Given the description of an element on the screen output the (x, y) to click on. 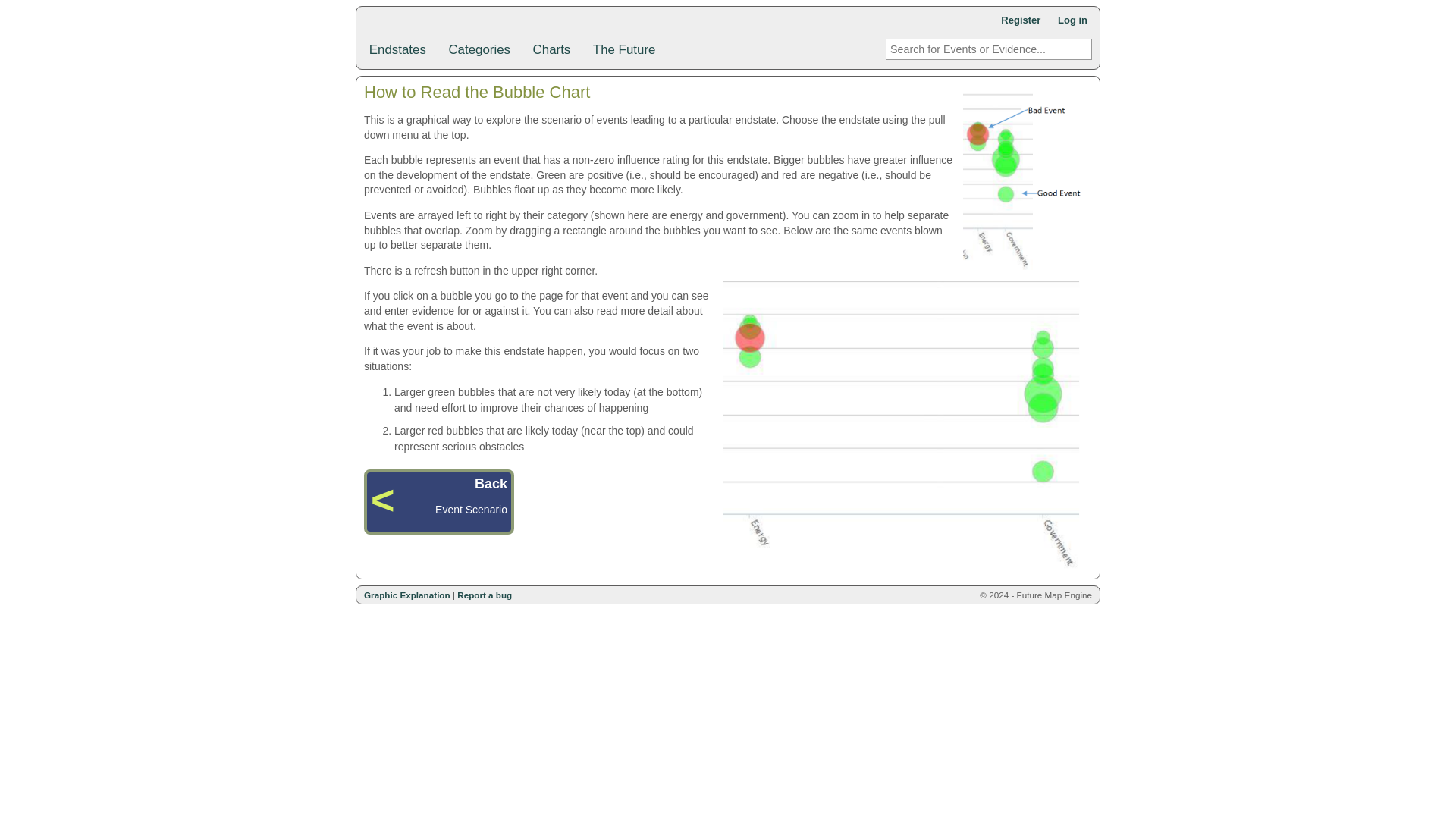
Log in (1072, 20)
Categories (485, 49)
Report a bug (484, 594)
Register (1020, 20)
ADK Futures (439, 26)
Charts (557, 49)
Endstates (404, 49)
Graphic Explanation (406, 594)
The Future (624, 49)
